Given the description of an element on the screen output the (x, y) to click on. 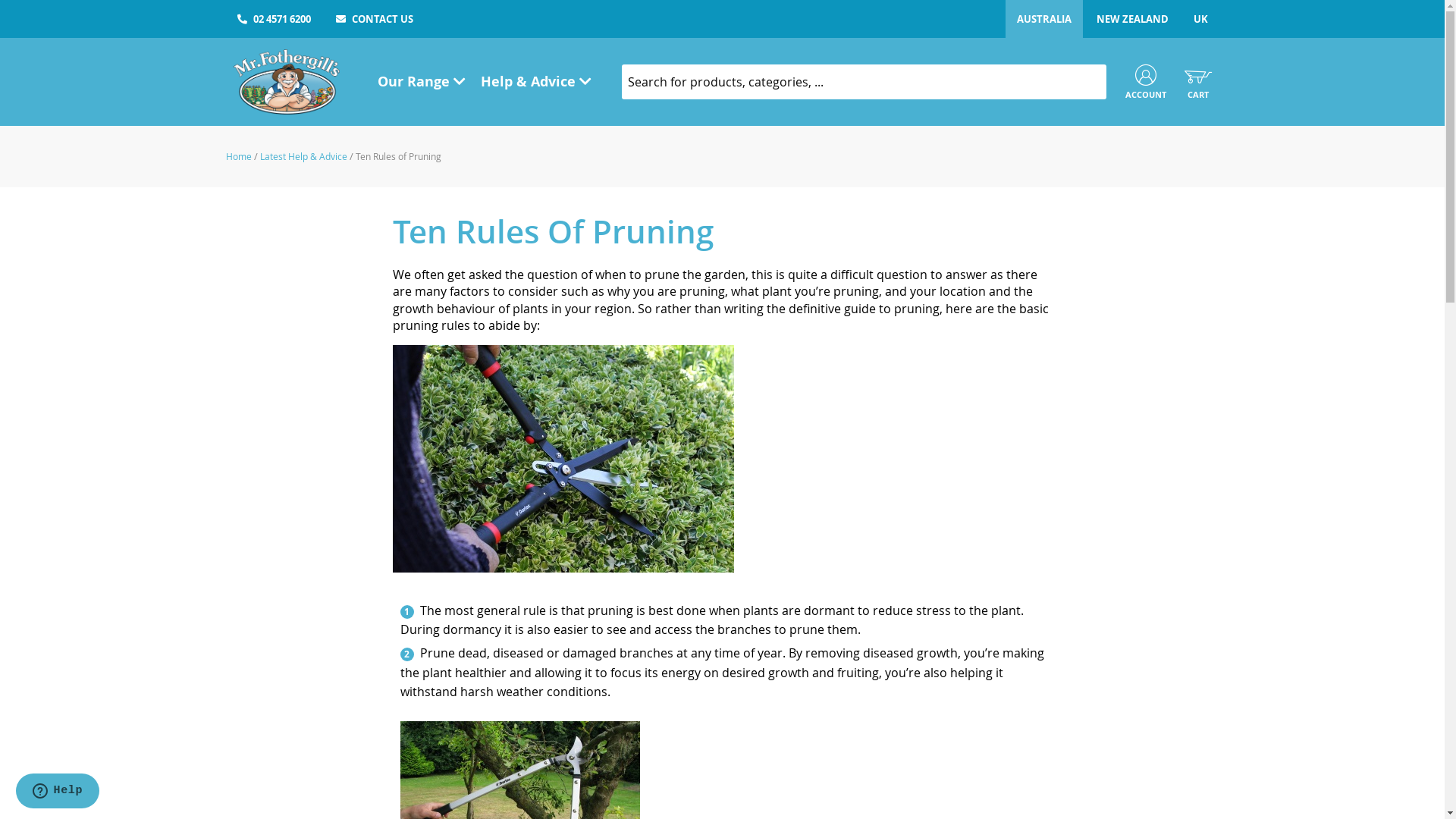
Help & Advice Element type: text (536, 82)
Home Element type: text (239, 156)
Our Range Element type: text (421, 82)
UK Element type: text (1199, 18)
Opens a widget where you can chat to one of our agents Element type: hover (57, 792)
NEW ZEALAND Element type: text (1131, 18)
CONTACT US Element type: text (374, 18)
AUSTRALIA Element type: text (1043, 18)
02 4571 6200 Element type: text (273, 18)
ACCOUNT Element type: text (1145, 82)
CART Element type: text (1197, 80)
Latest Help & Advice Element type: text (303, 156)
